Given the description of an element on the screen output the (x, y) to click on. 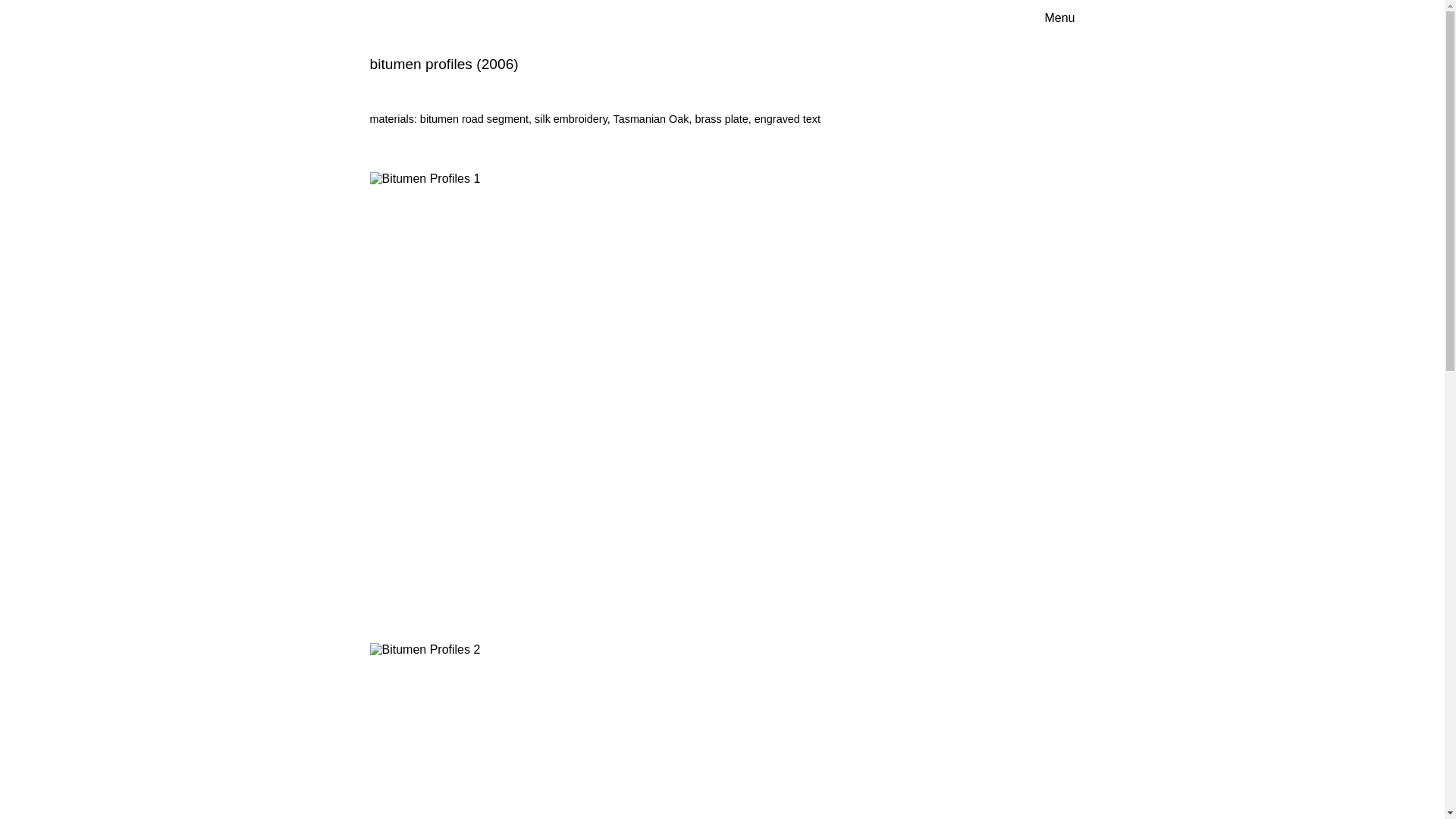
bitumen profiles (2006) Element type: text (444, 64)
